Given the description of an element on the screen output the (x, y) to click on. 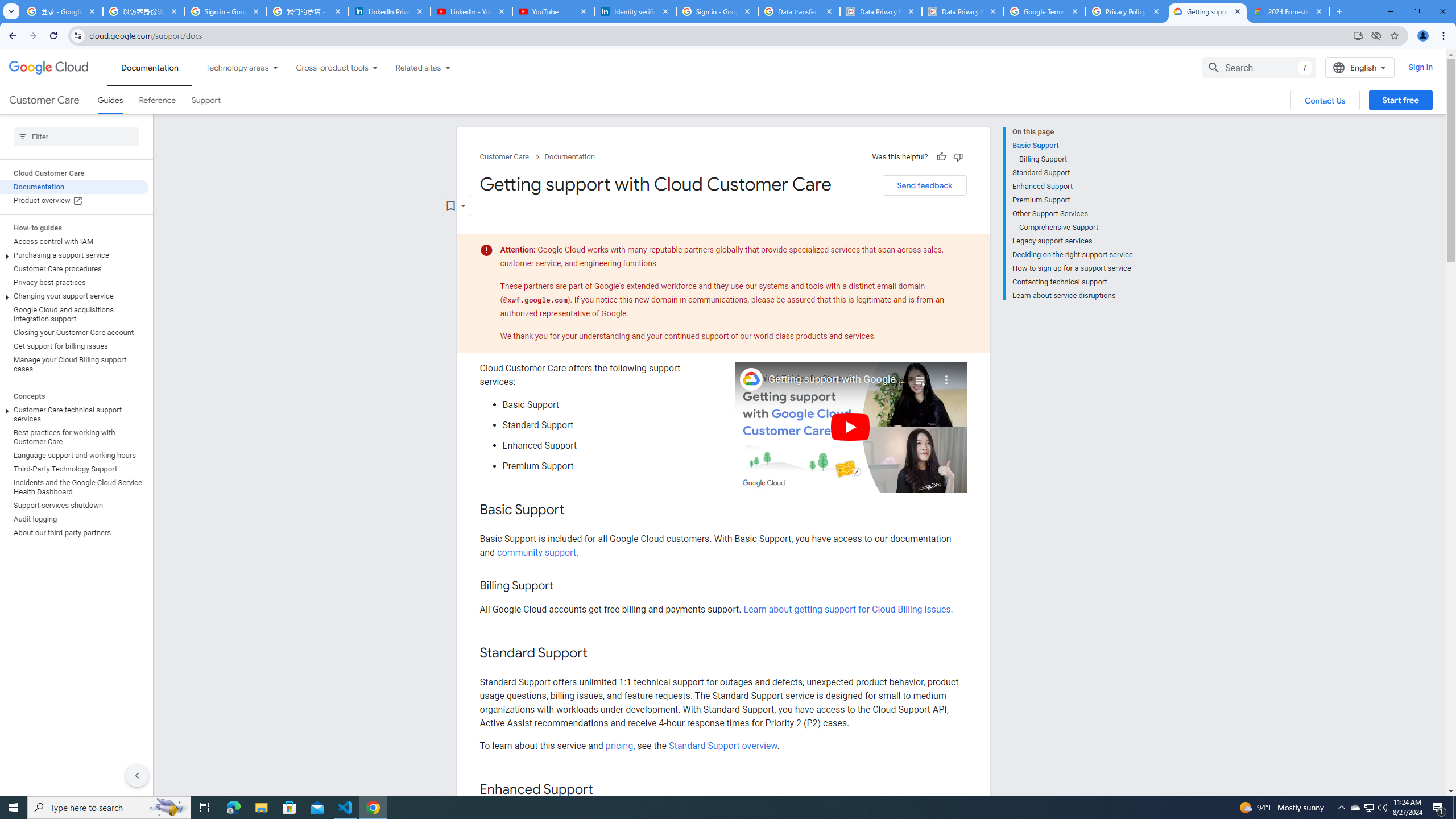
Contact Us (1324, 100)
pricing (619, 745)
Cross-product tools (325, 67)
Address and search bar (717, 35)
Manage your Cloud Billing support cases (74, 363)
Getting support with Google Cloud Customer Care (837, 379)
Identity verification via Persona | LinkedIn Help (635, 11)
Enhanced Support (1071, 186)
Customer Care chevron_right (511, 156)
Reference (157, 99)
Learn about service disruptions (1071, 294)
Closing your Customer Care account (74, 332)
Google Cloud and acquisitions integration support (74, 314)
